Given the description of an element on the screen output the (x, y) to click on. 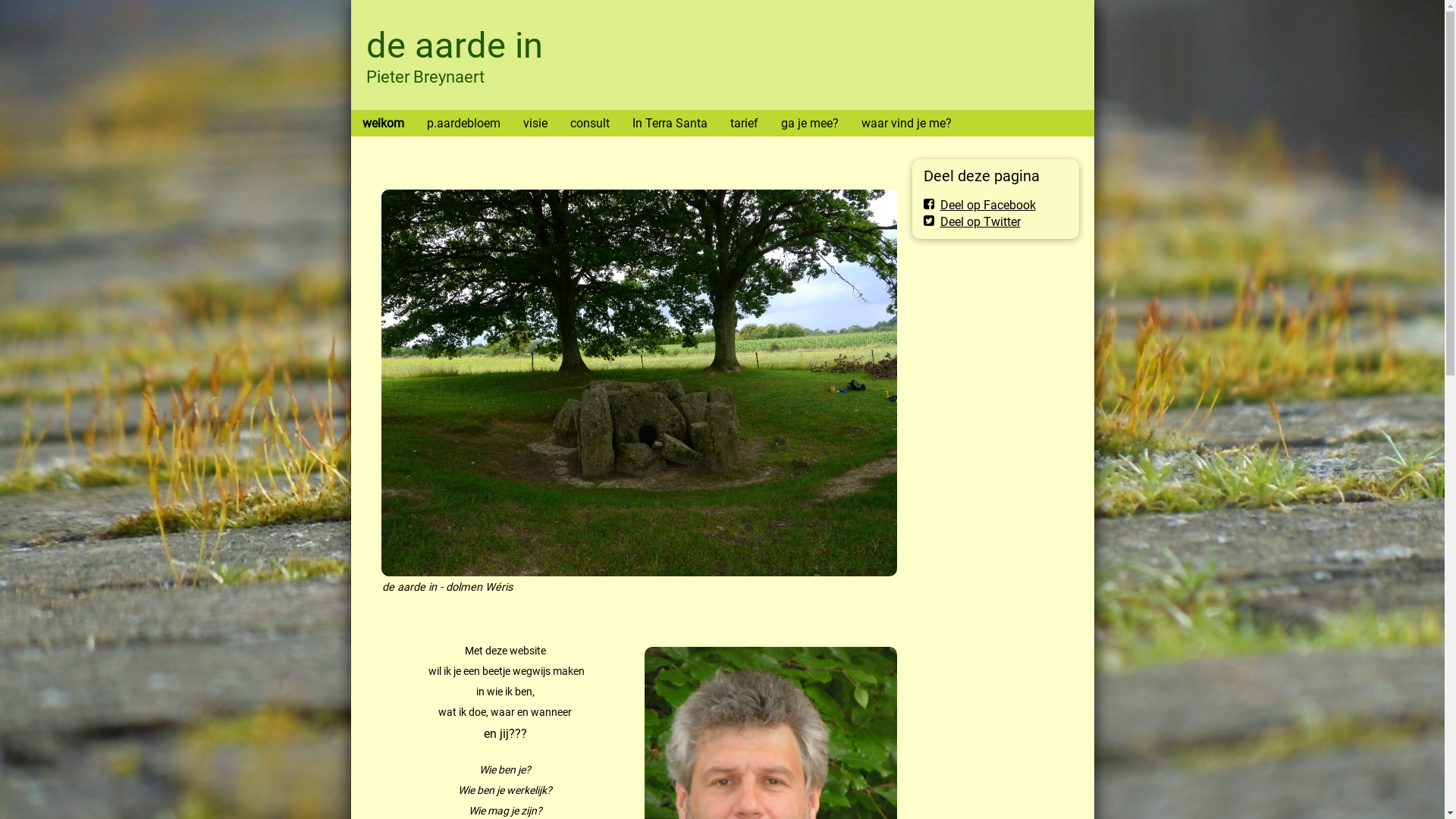
ga je mee? Element type: text (808, 122)
p.aardebloem Element type: text (463, 122)
tarief Element type: text (743, 122)
In Terra Santa Element type: text (669, 122)
de aarde in Element type: text (453, 44)
visie Element type: text (534, 122)
waar vind je me? Element type: text (905, 122)
welkom Element type: text (382, 122)
Deel op Twitter Element type: text (971, 221)
Deel op Facebook Element type: text (979, 204)
consult Element type: text (589, 122)
